Given the description of an element on the screen output the (x, y) to click on. 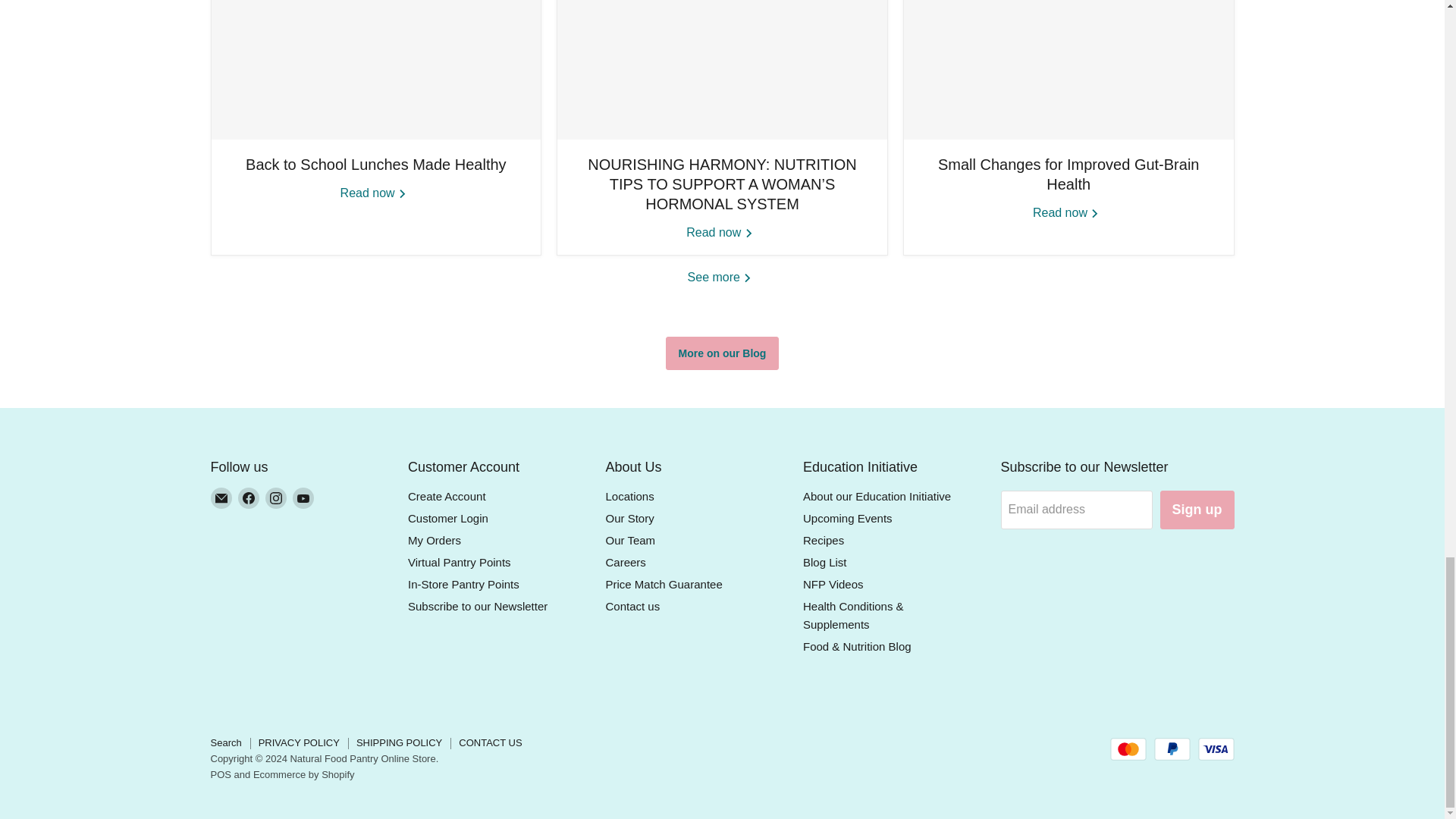
Instagram (275, 497)
Email (221, 497)
Facebook (248, 497)
YouTube (303, 497)
